Given the description of an element on the screen output the (x, y) to click on. 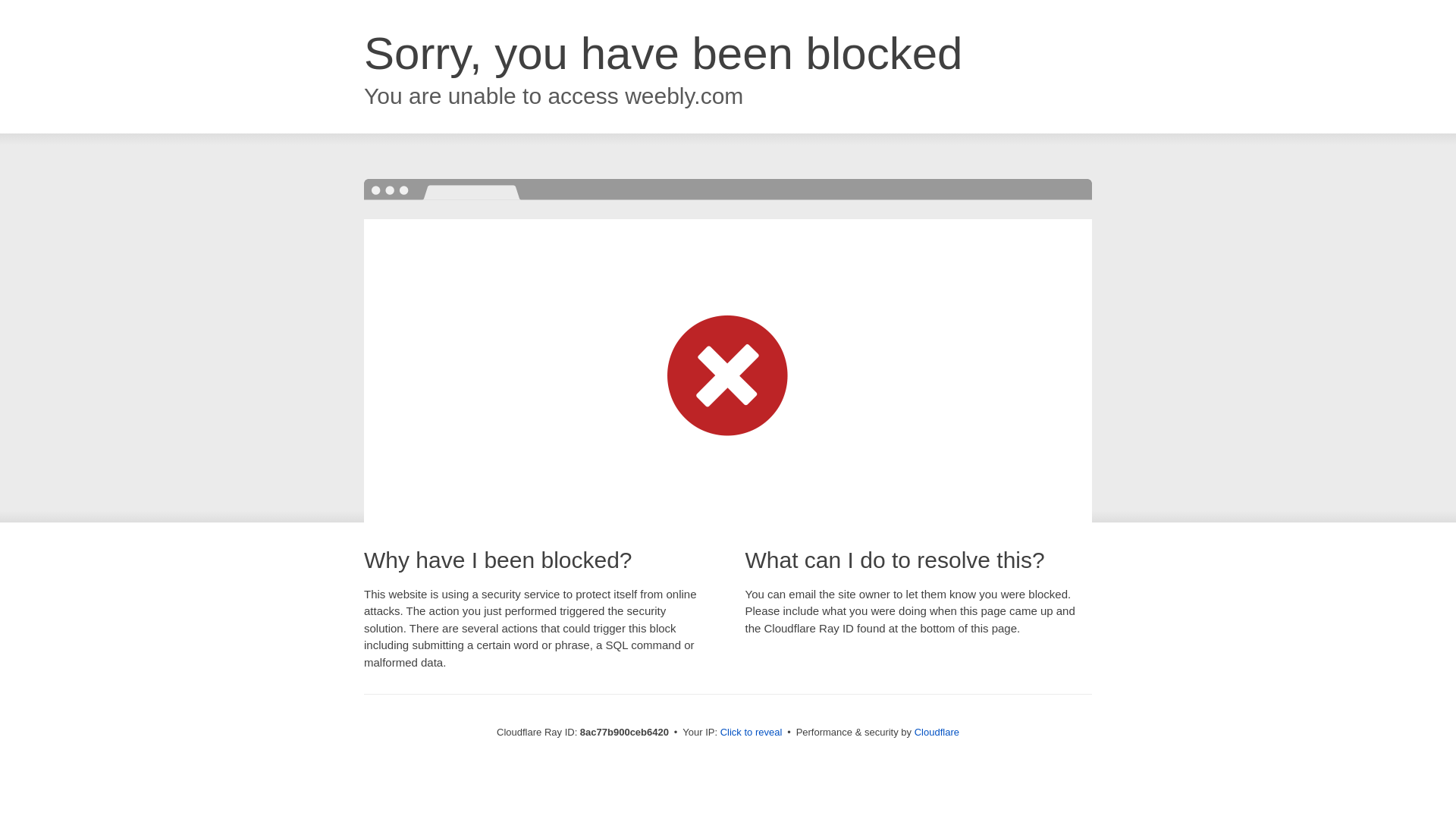
Click to reveal (751, 732)
Cloudflare (936, 731)
